Given the description of an element on the screen output the (x, y) to click on. 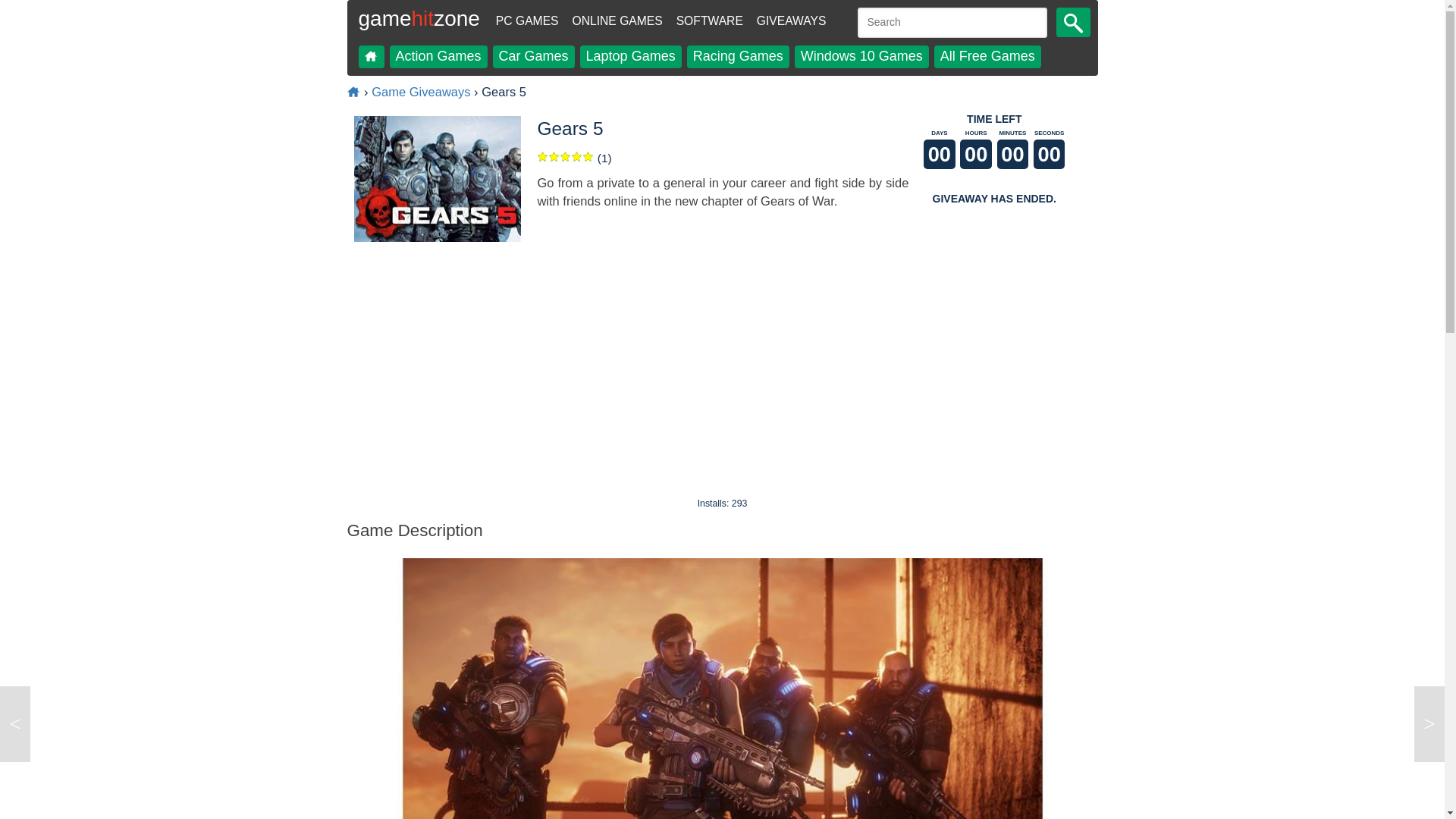
gamehitzone (419, 24)
Car Games (534, 56)
Action Games (438, 56)
Game Giveaways (420, 92)
PC GAMES (527, 21)
You can put a rating just right after playing. (565, 156)
SOFTWARE (709, 21)
ONLINE GAMES (616, 21)
Laptop Games (630, 56)
